Given the description of an element on the screen output the (x, y) to click on. 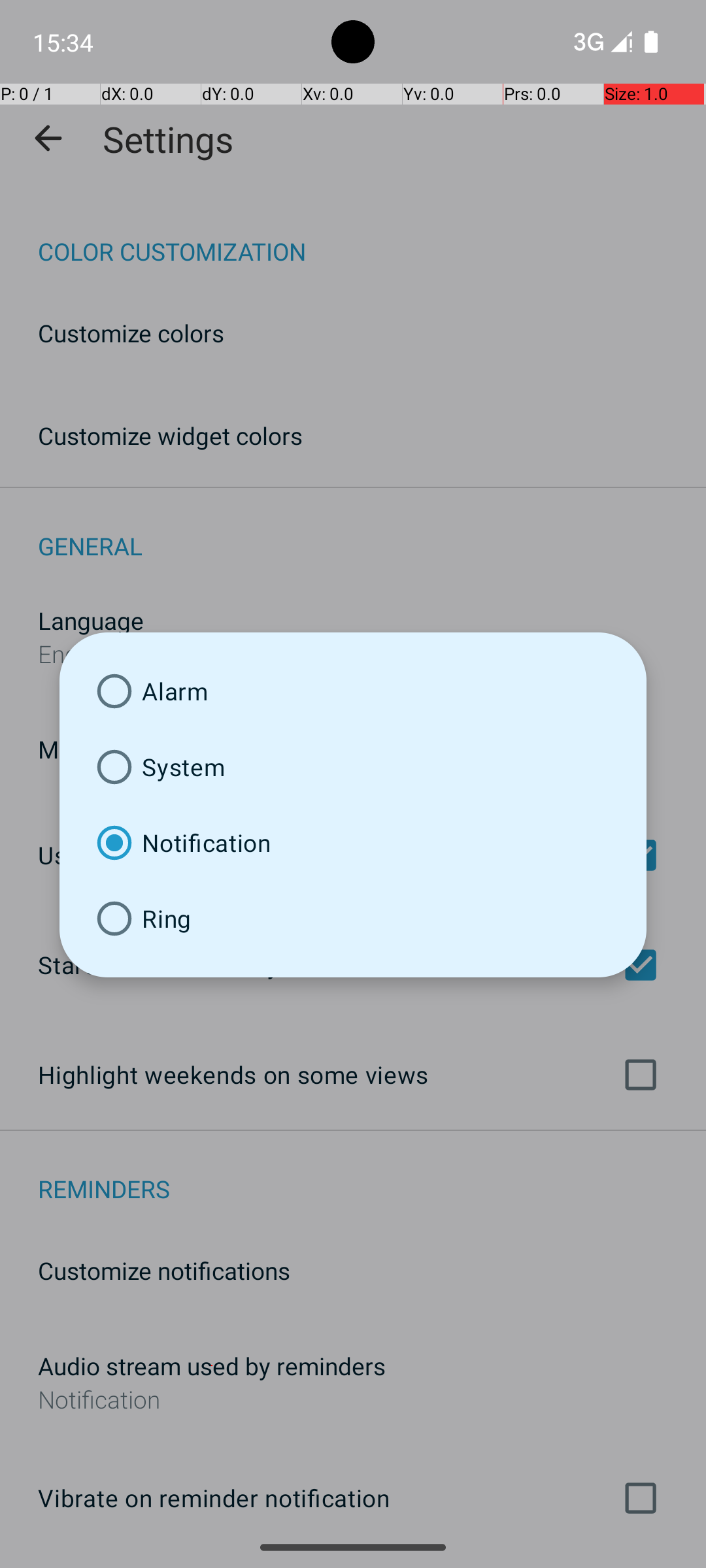
System Element type: android.widget.RadioButton (352, 766)
Notification Element type: android.widget.RadioButton (352, 842)
Ring Element type: android.widget.RadioButton (352, 918)
